Given the description of an element on the screen output the (x, y) to click on. 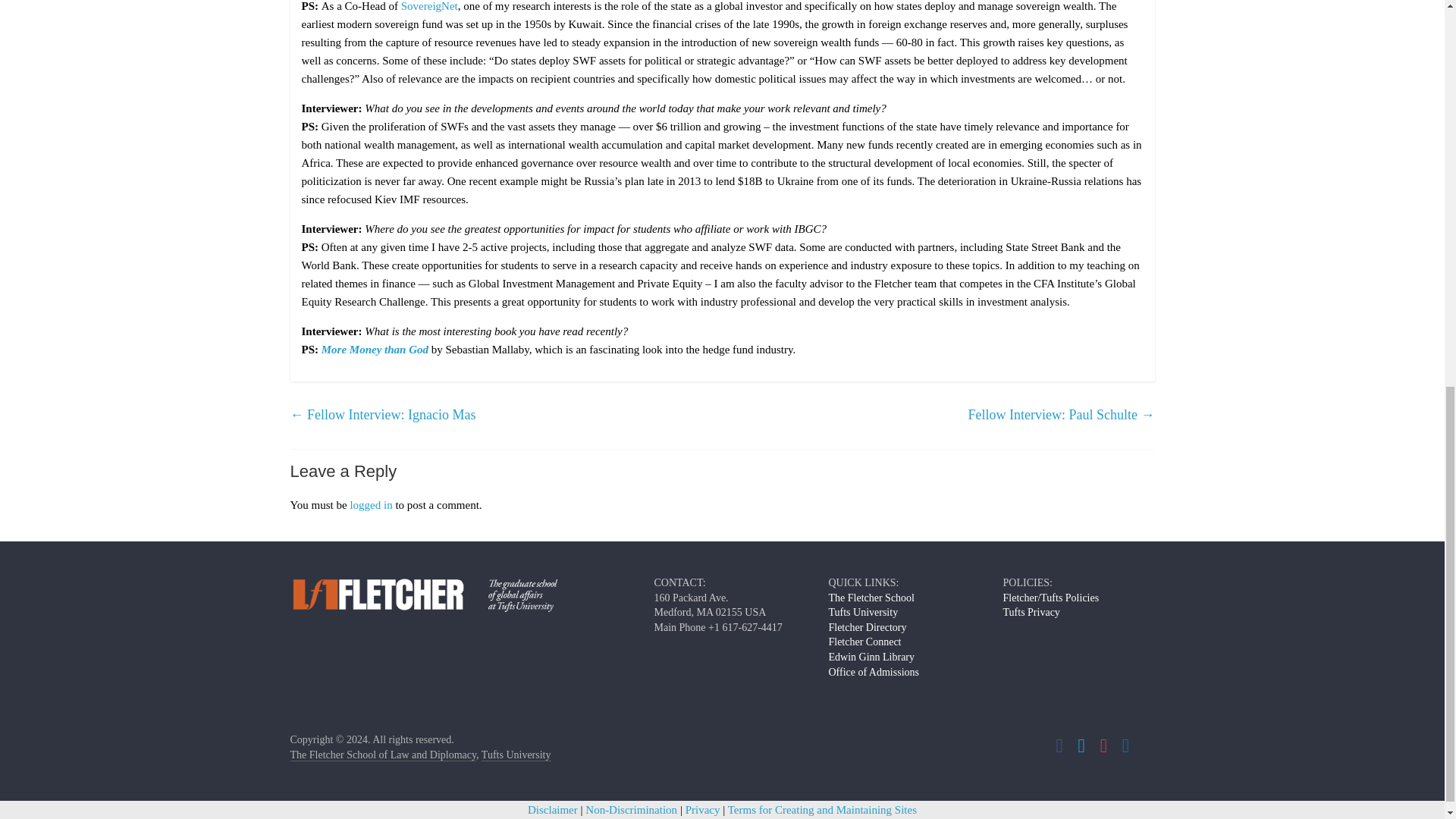
SovereigNet (429, 6)
Fletcher Directory (866, 627)
Edwin Ginn Library (871, 656)
The Fletcher School (871, 597)
logged in (370, 504)
Opens in new window (374, 349)
Fletcher Connect (864, 641)
Tufts University (516, 755)
The Fletcher School (382, 755)
Tufts University (863, 612)
More Money than God (374, 349)
